Given the description of an element on the screen output the (x, y) to click on. 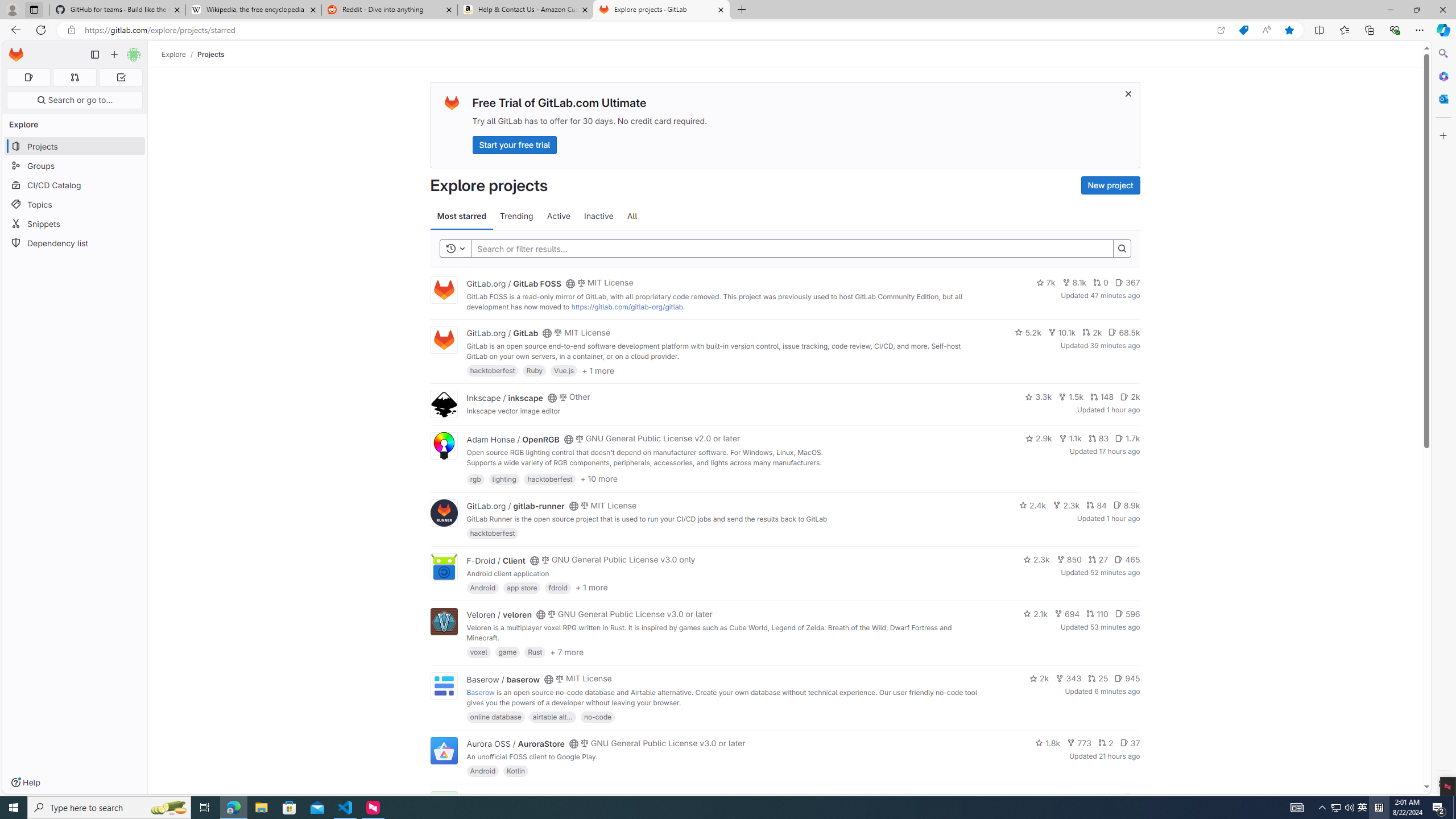
Veloren / veloren (498, 614)
airtable alt... (552, 715)
Class: s16 (568, 798)
Topics (74, 203)
367 (1127, 282)
1.8k (1048, 742)
+ 1 more (591, 587)
Snippets (74, 223)
Baserow (480, 691)
Class: project (443, 750)
F-Droid / Client (495, 560)
